Given the description of an element on the screen output the (x, y) to click on. 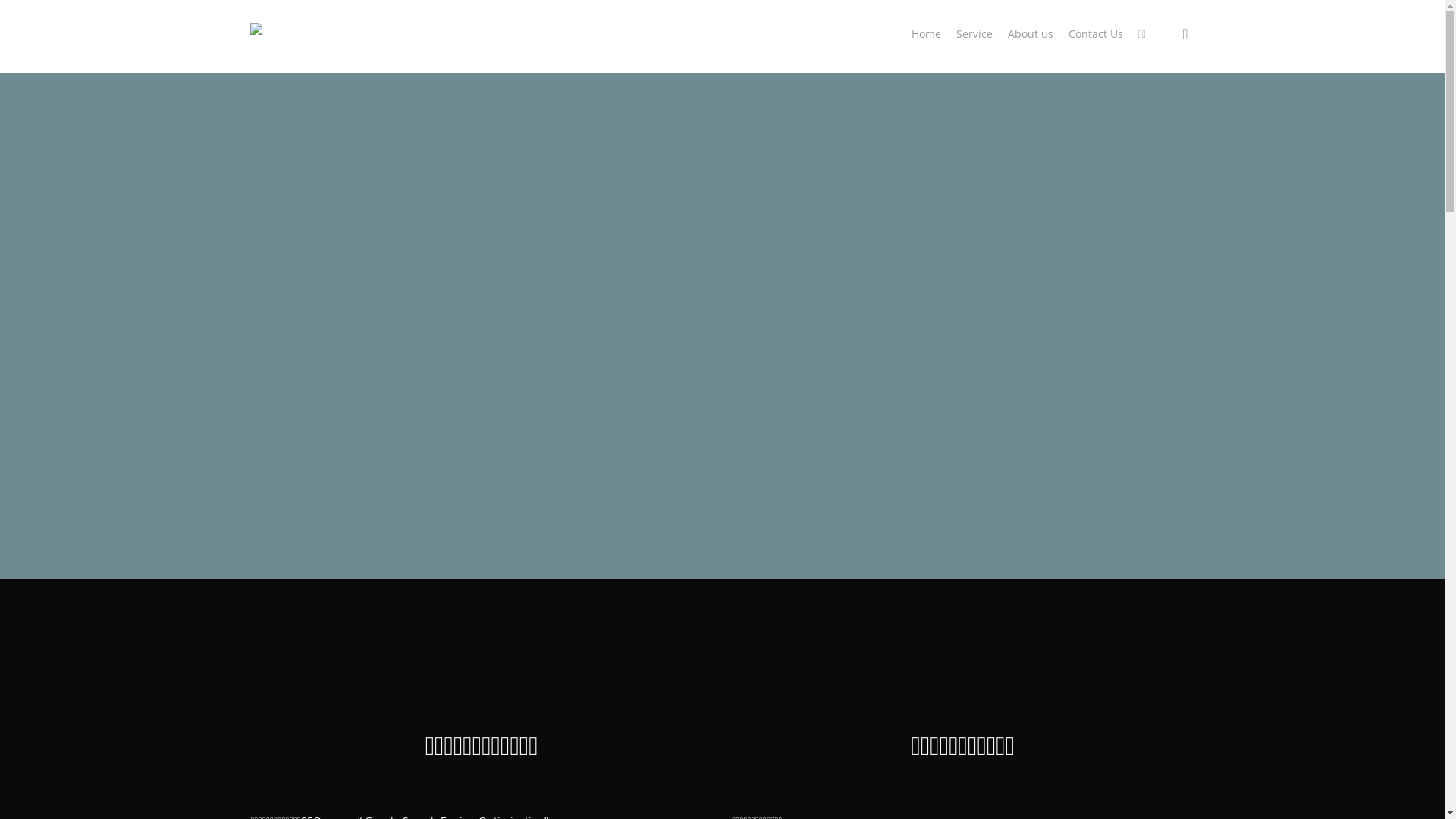
Home Element type: text (264, 47)
search Element type: text (1185, 33)
Home Element type: text (926, 33)
About us Element type: text (1030, 33)
Contact Us Element type: text (1095, 33)
Service Element type: text (974, 33)
